Given the description of an element on the screen output the (x, y) to click on. 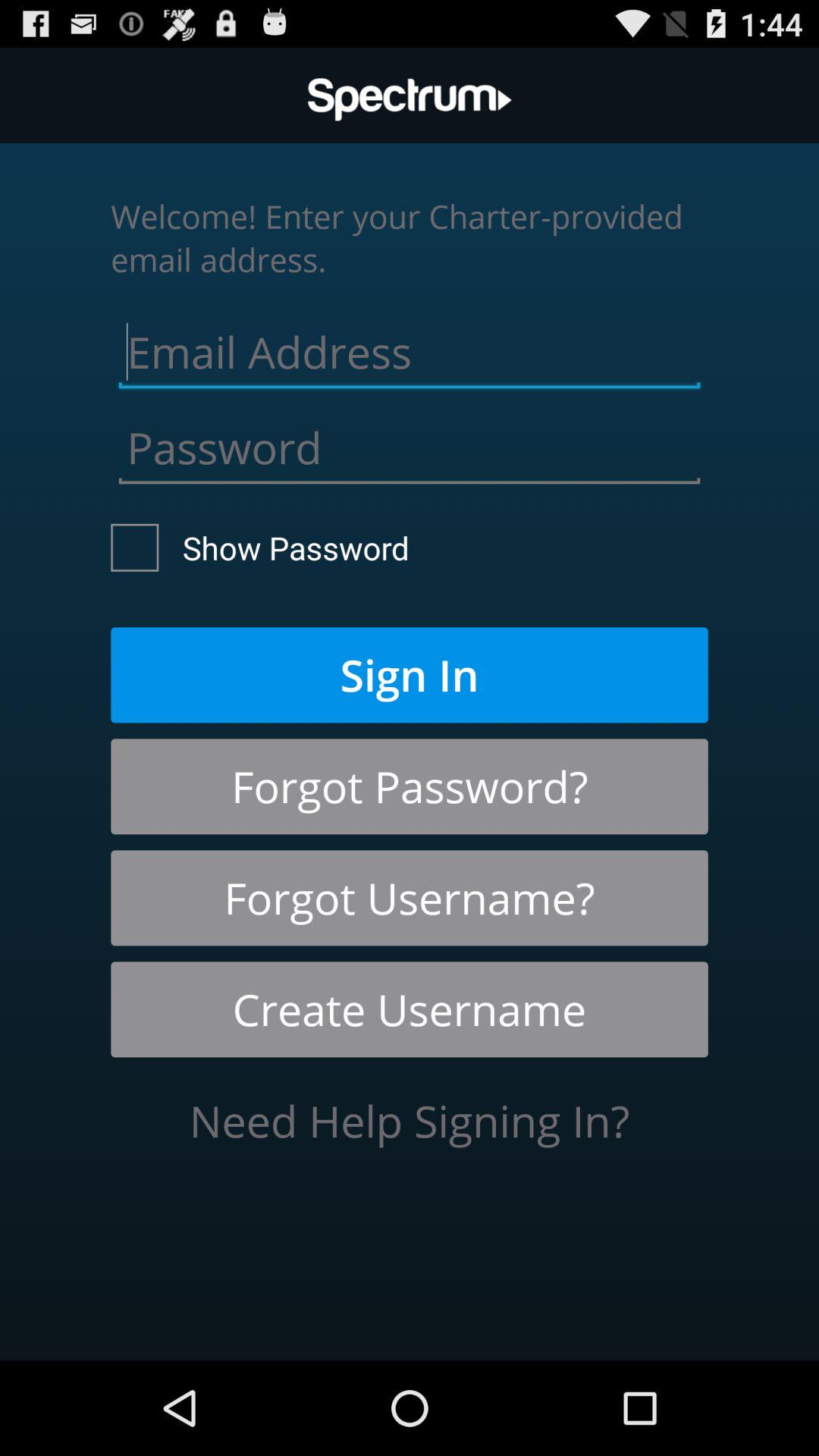
press the show password (259, 547)
